Given the description of an element on the screen output the (x, y) to click on. 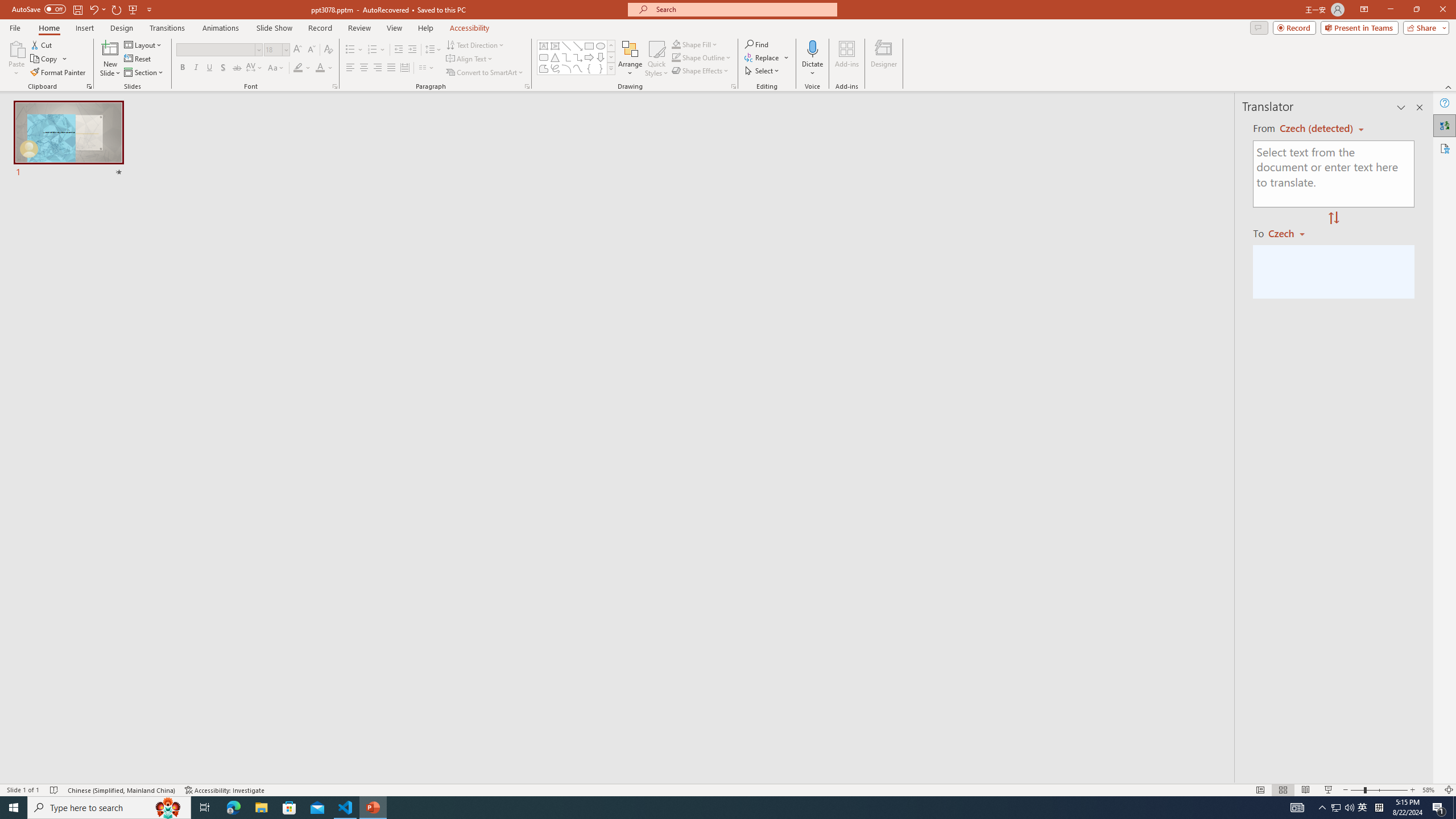
Czech (1291, 232)
